Given the description of an element on the screen output the (x, y) to click on. 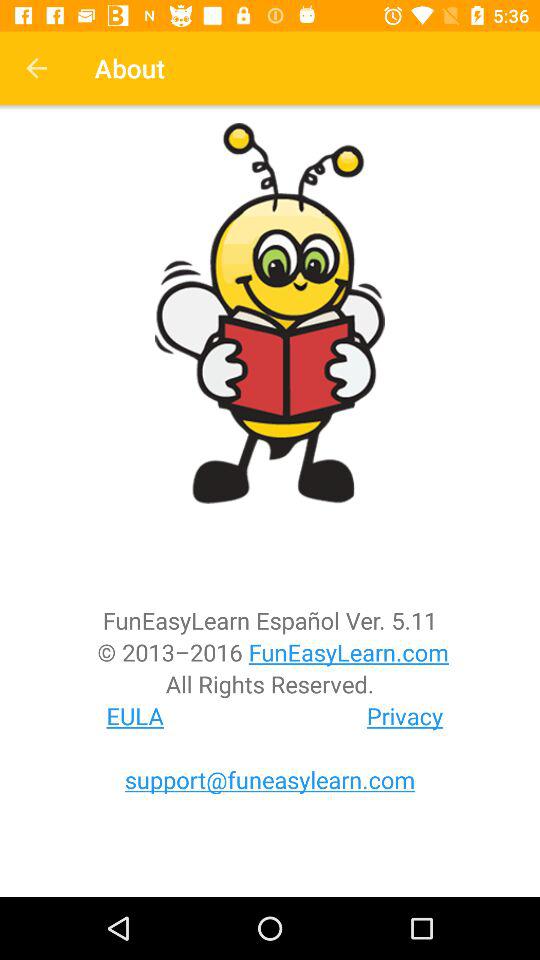
tap the item at the bottom left corner (135, 715)
